Given the description of an element on the screen output the (x, y) to click on. 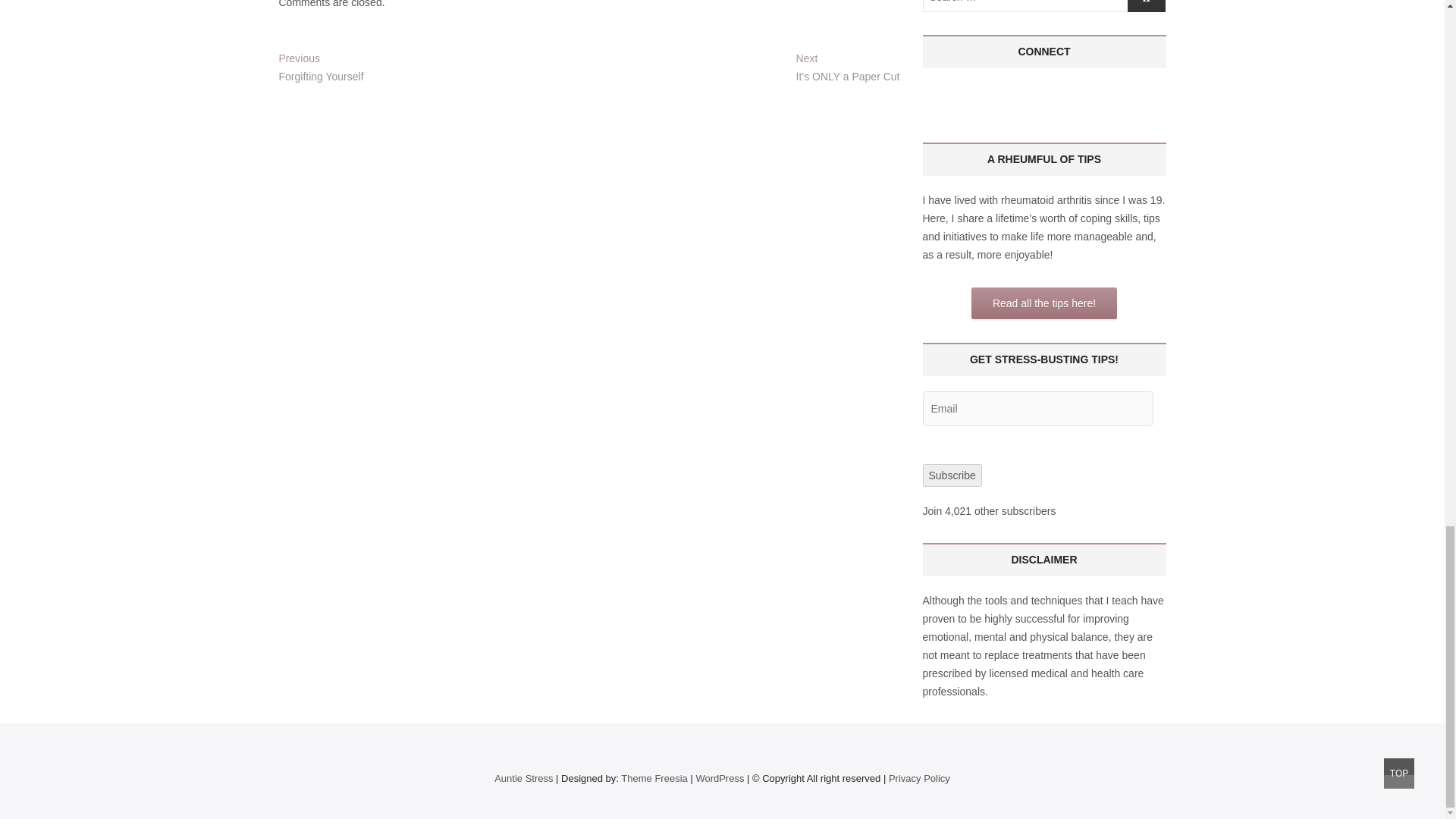
WordPress (719, 778)
Auntie Stress (524, 778)
Theme Freesia (654, 778)
